Given the description of an element on the screen output the (x, y) to click on. 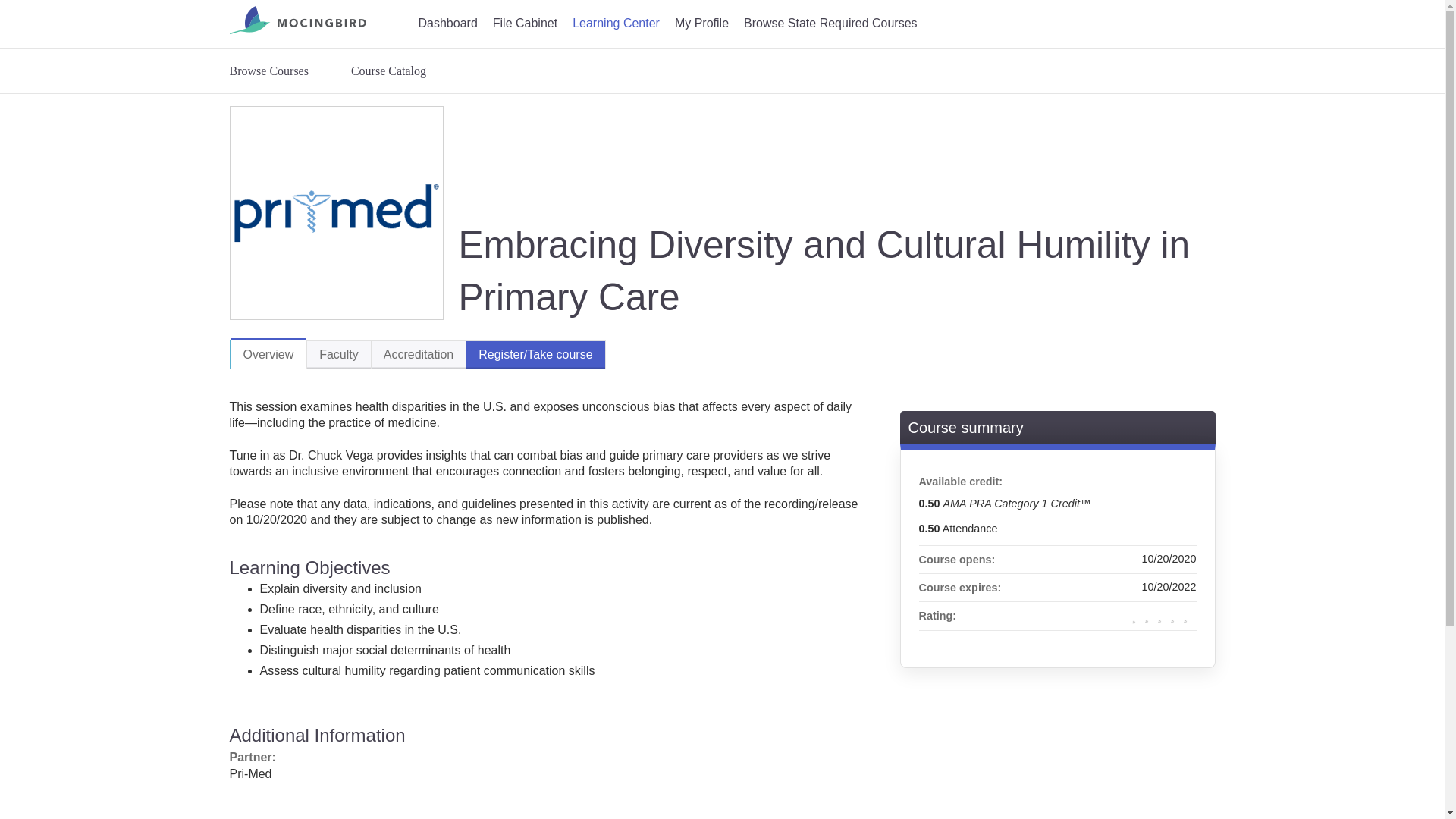
Accreditation (419, 354)
Home (296, 22)
Browse State Required Courses (828, 24)
My Profile (701, 24)
Course Catalog (388, 70)
Overview (268, 353)
File Cabinet (524, 24)
Faculty (338, 354)
Learning Center (616, 24)
Dashboard (446, 24)
Browse Courses (275, 70)
